Given the description of an element on the screen output the (x, y) to click on. 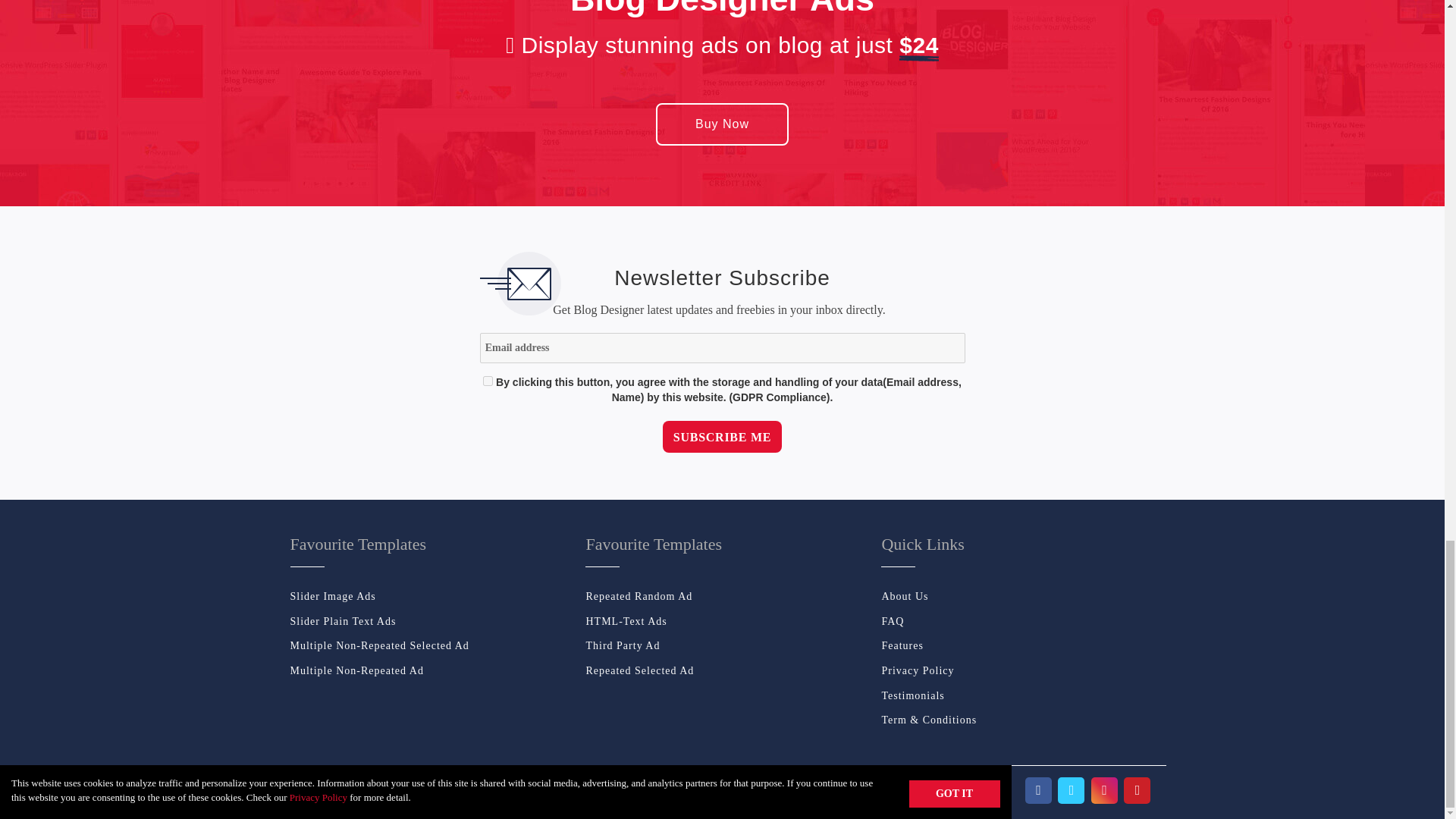
true (488, 380)
SUBSCRIBE ME (721, 436)
Buy Now (722, 124)
